Given the description of an element on the screen output the (x, y) to click on. 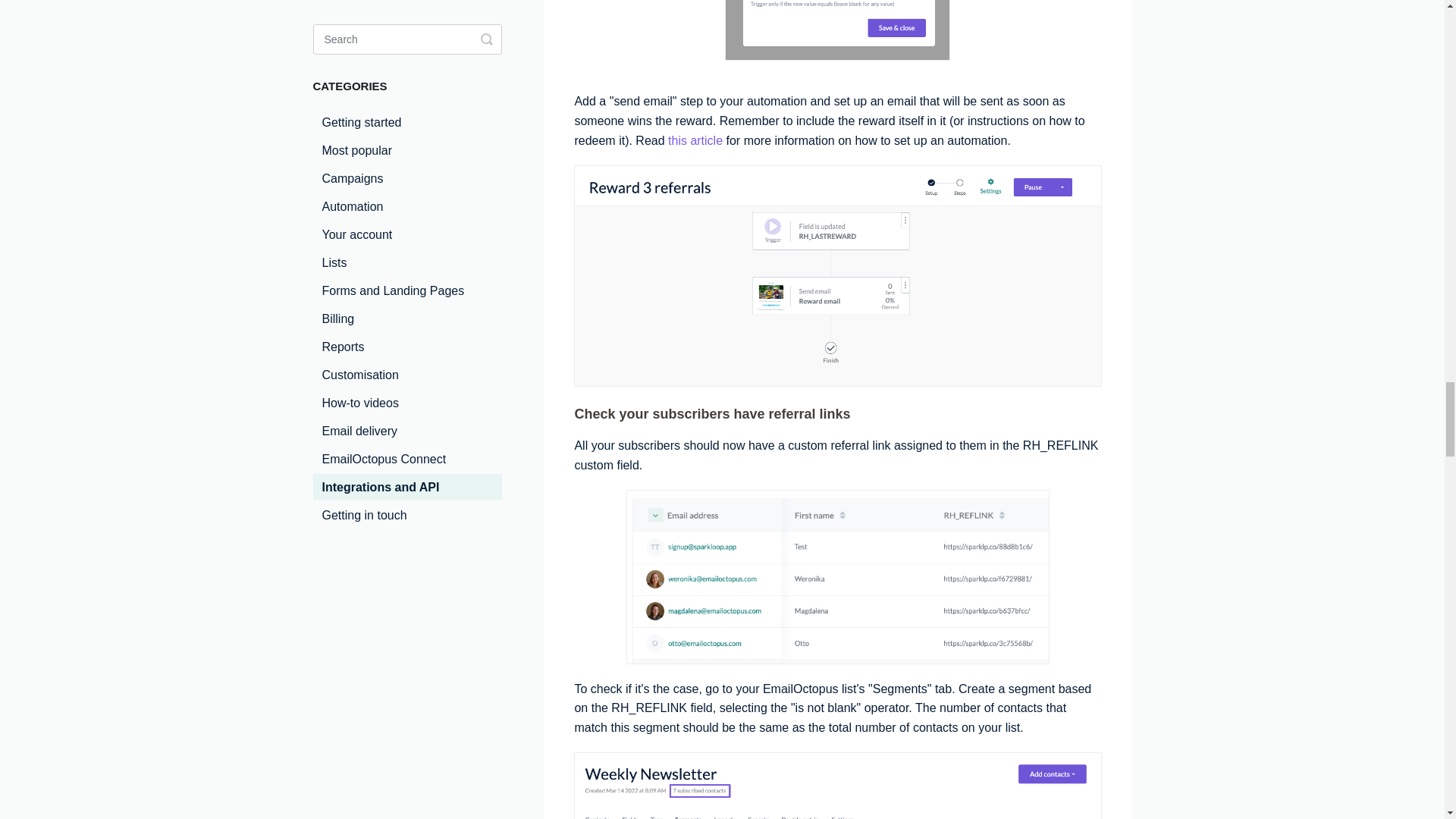
this article (695, 140)
